Given the description of an element on the screen output the (x, y) to click on. 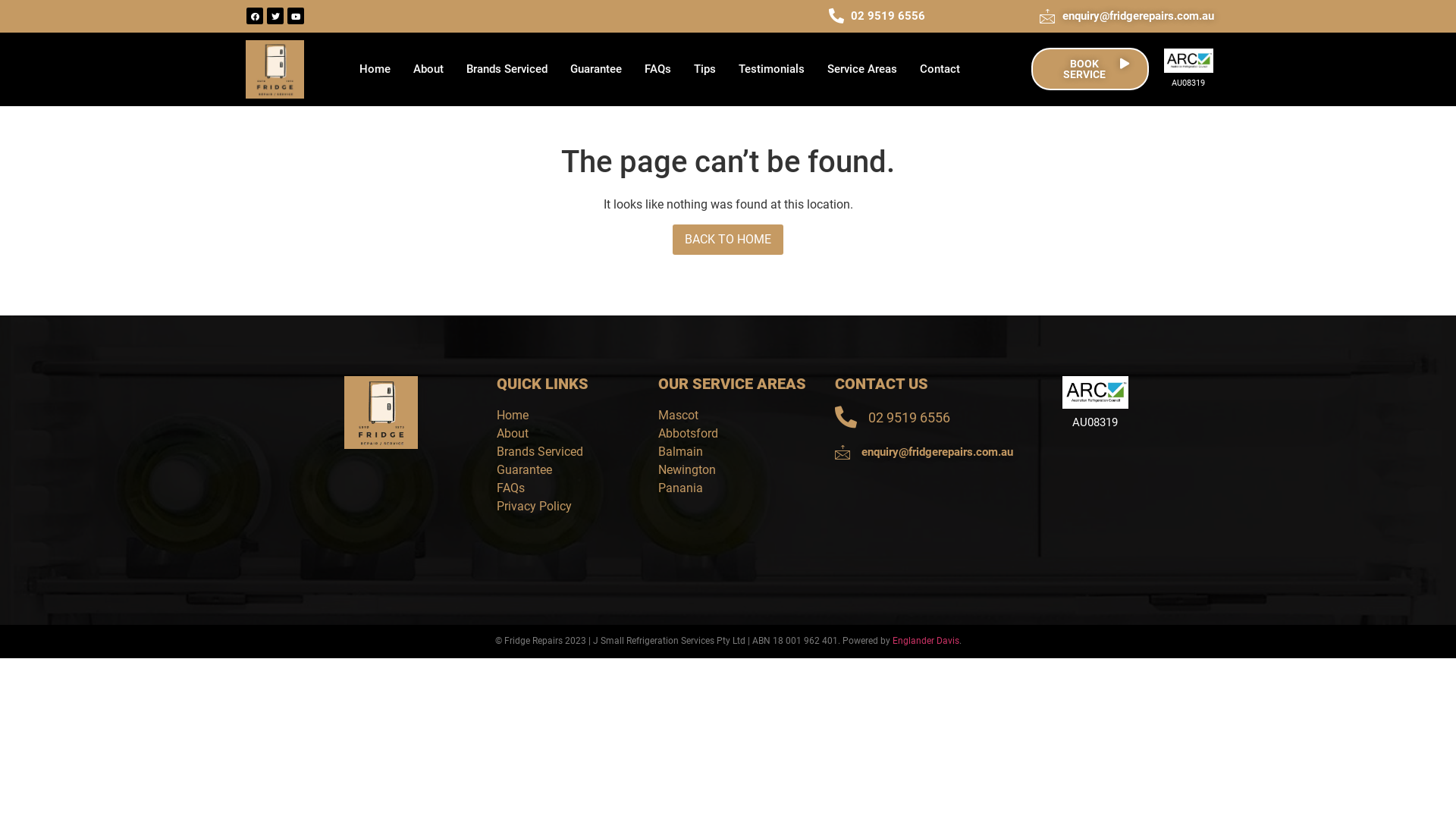
enquiry@fridgerepairs.com.au Element type: text (932, 452)
Contact Element type: text (939, 68)
FAQs Element type: text (657, 68)
Tips Element type: text (704, 68)
Guarantee Element type: text (561, 470)
02 9519 6556 Element type: text (932, 417)
About Element type: text (428, 68)
FAQs Element type: text (561, 488)
Privacy Policy Element type: text (561, 506)
Englander Davis Element type: text (924, 640)
Brands Serviced Element type: text (561, 451)
AU08319 Element type: text (1188, 83)
enquiry@fridgerepairs.com.au Element type: text (1069, 16)
02 9519 6556 Element type: text (826, 16)
Brands Serviced Element type: text (506, 68)
Guarantee Element type: text (595, 68)
Home Element type: text (374, 68)
BOOK SERVICE Element type: text (1089, 68)
Home Element type: text (561, 415)
BACK TO HOME Element type: text (727, 239)
BACK TO HOME Element type: text (727, 239)
AU08319 Element type: text (1095, 422)
Testimonials Element type: text (771, 68)
About Element type: text (561, 433)
Service Areas Element type: text (861, 68)
